Given the description of an element on the screen output the (x, y) to click on. 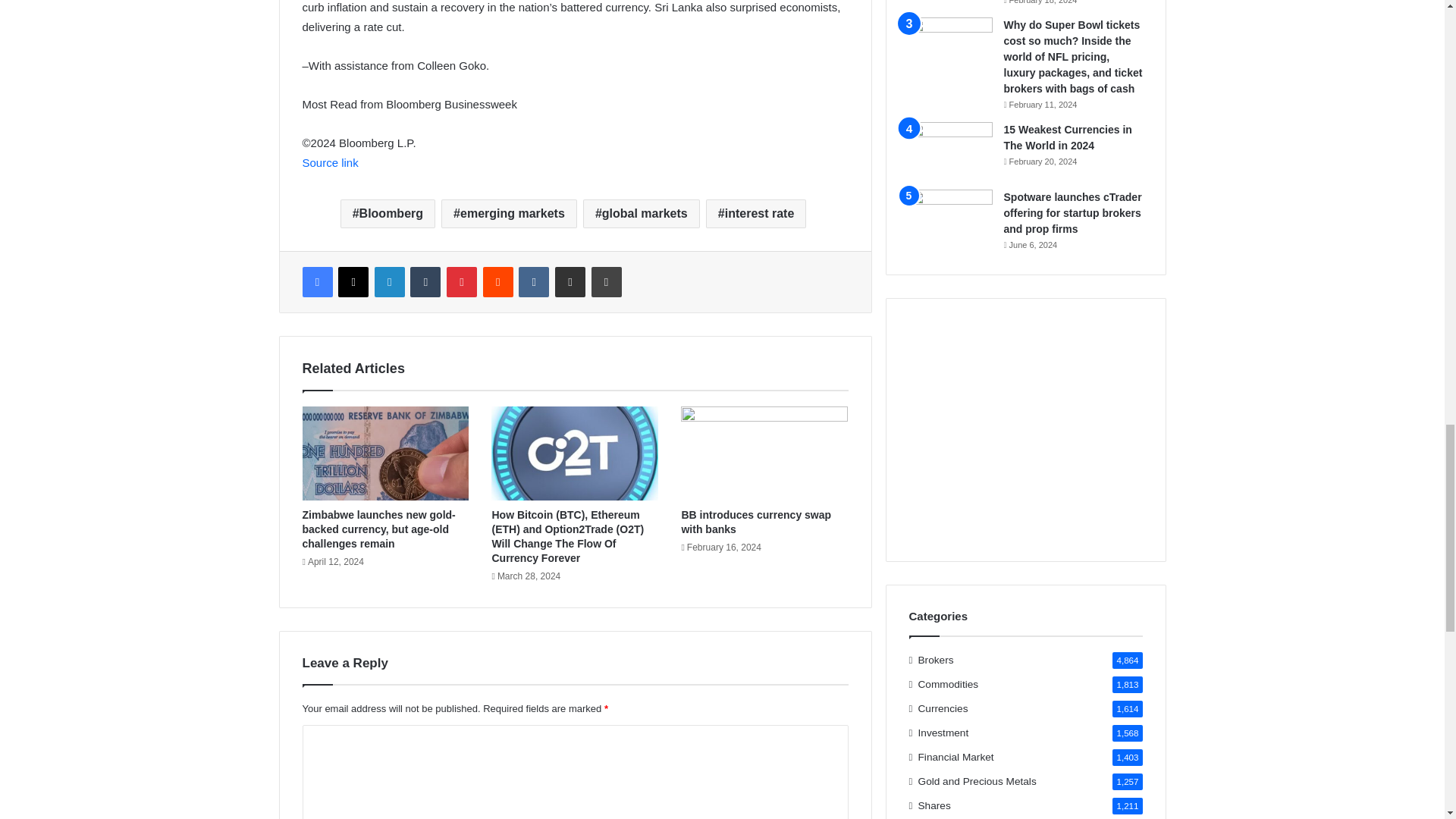
Reddit (498, 281)
Print (606, 281)
Share via Email (569, 281)
Reddit (498, 281)
VKontakte (533, 281)
Pinterest (461, 281)
X (352, 281)
Bloomberg (387, 213)
Print (606, 281)
VKontakte (533, 281)
global markets (641, 213)
Source link (329, 162)
Facebook (316, 281)
LinkedIn (389, 281)
X (352, 281)
